Given the description of an element on the screen output the (x, y) to click on. 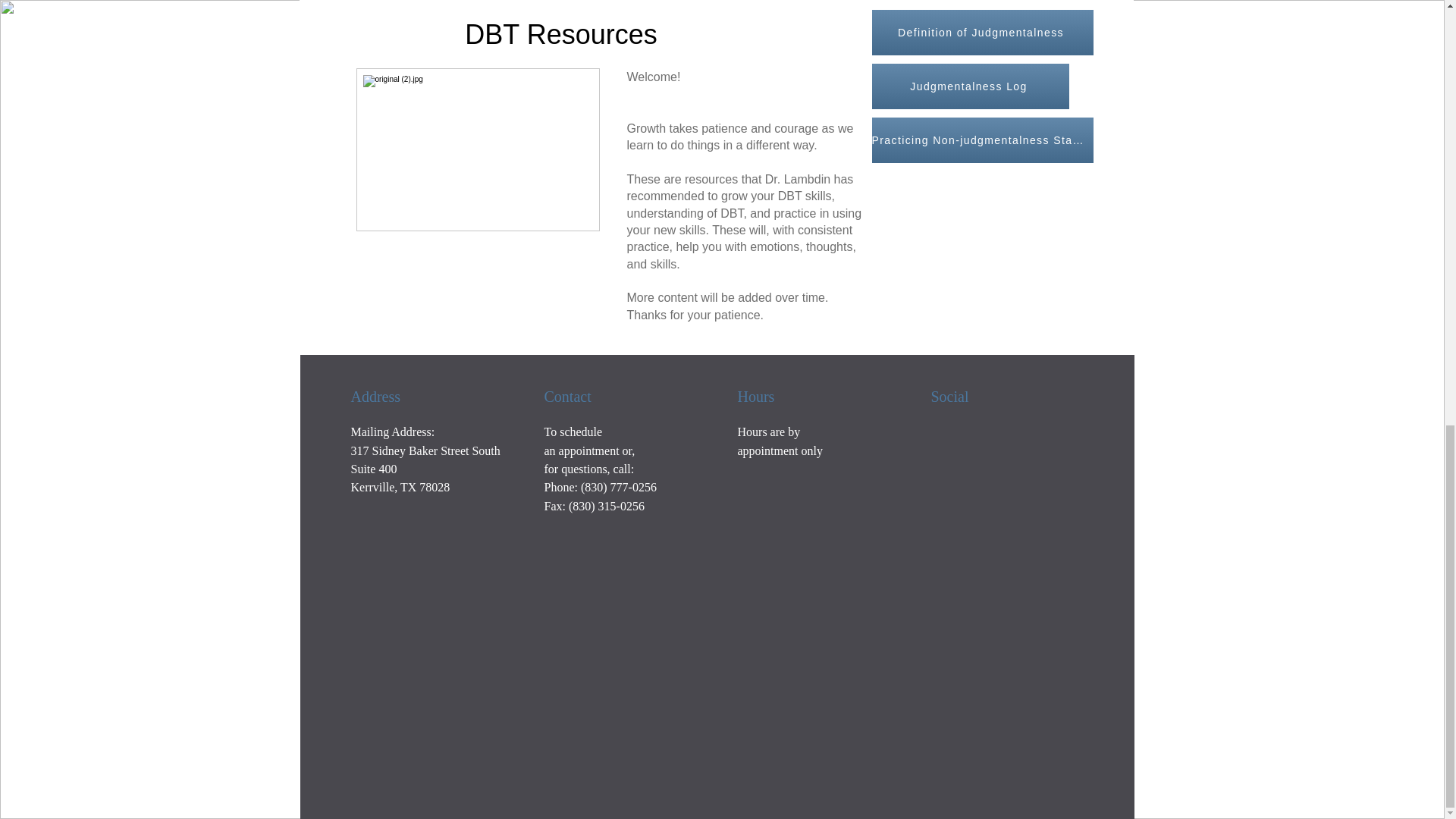
Definition of Judgmentalness (982, 32)
Practicing Non-judgmentalness Stance (982, 139)
Judgmentalness Log (970, 85)
